Given the description of an element on the screen output the (x, y) to click on. 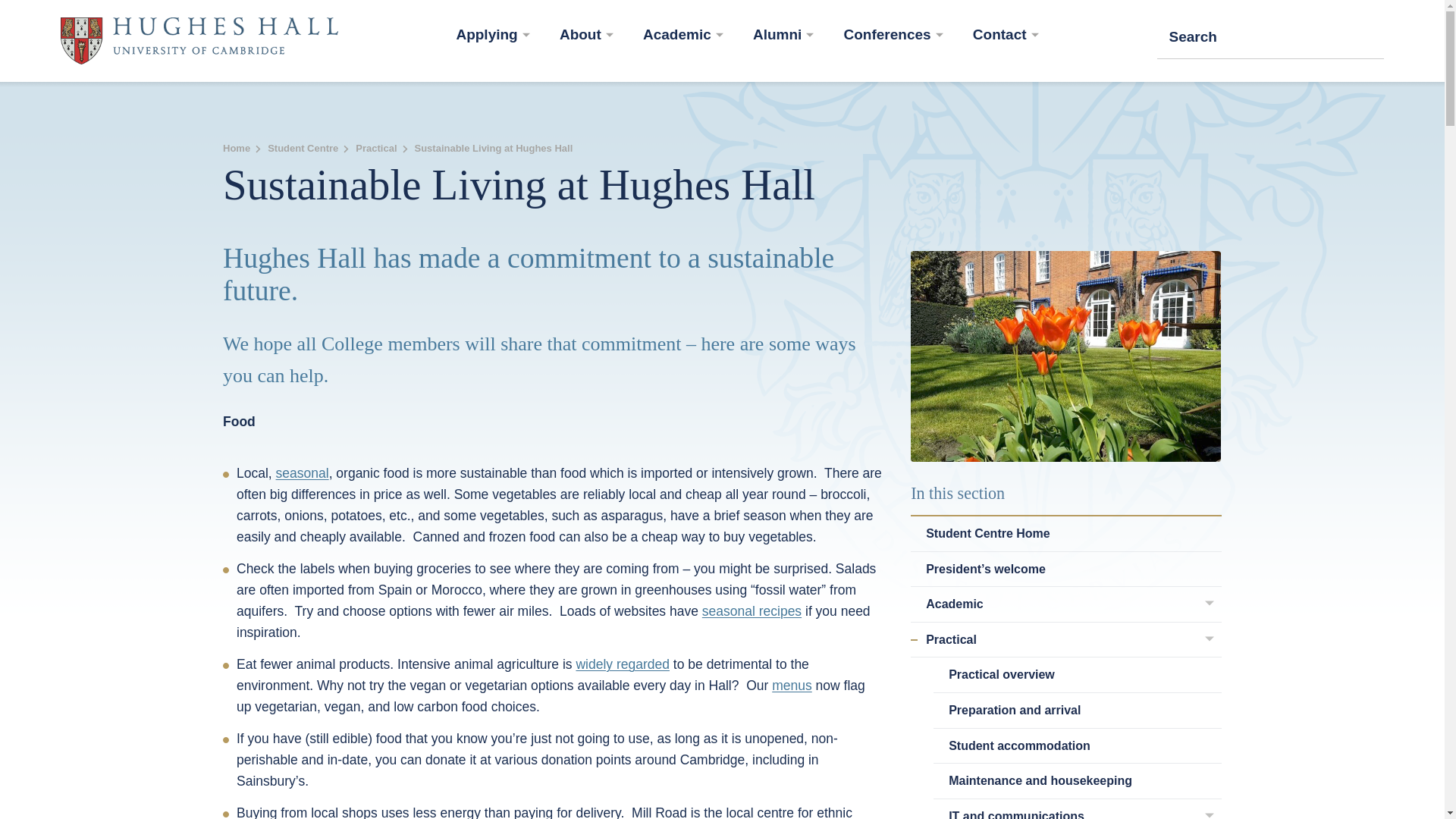
Academic Excellence (683, 36)
6 - Hughes Hall (1066, 355)
Hughes Hall - University of Cambridge (199, 40)
About (585, 36)
Applying (492, 36)
